Given the description of an element on the screen output the (x, y) to click on. 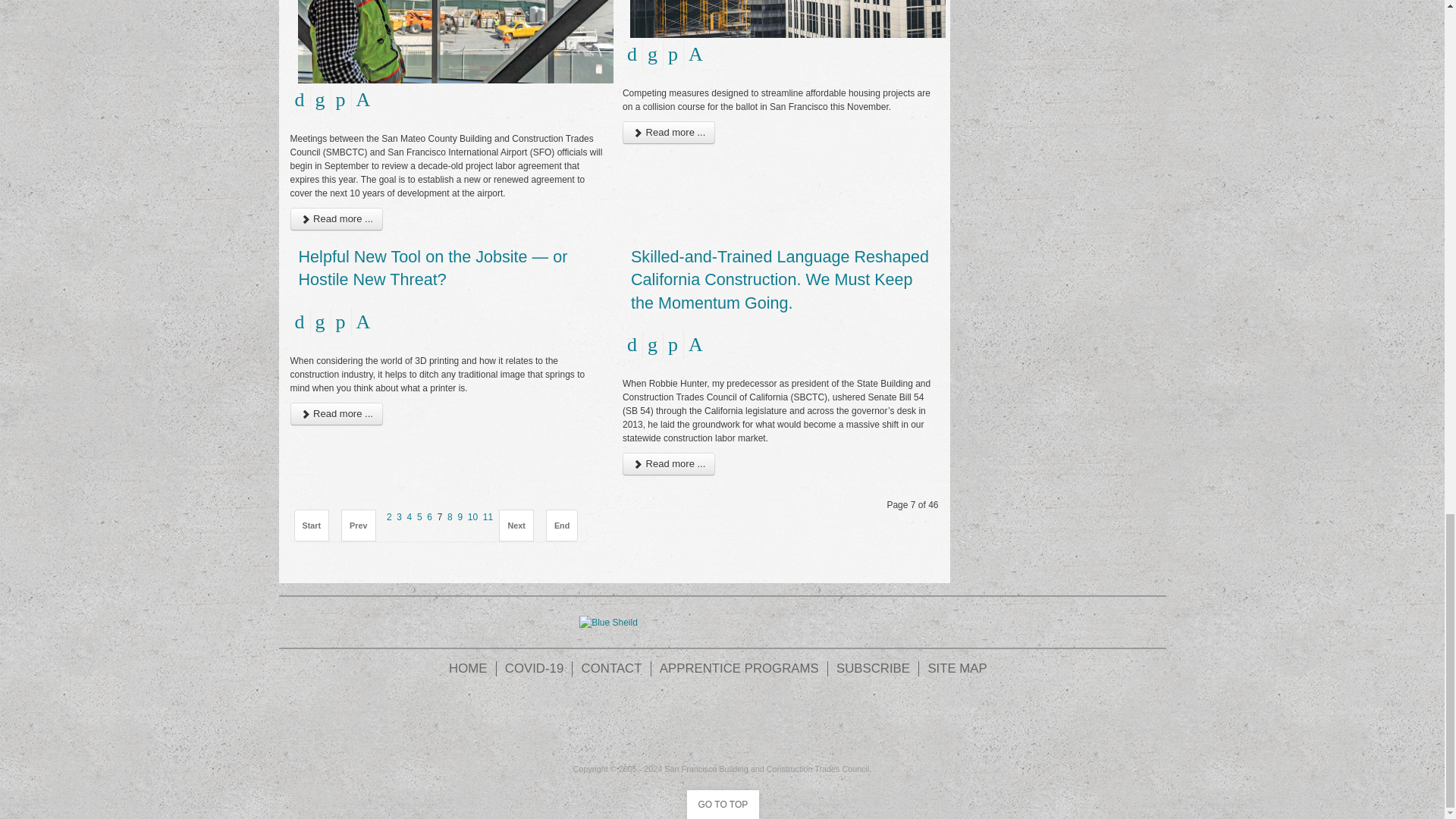
10 (472, 516)
Next (515, 525)
11 (488, 516)
Prev (357, 525)
End (562, 525)
Facebook (638, 721)
Start (312, 525)
BLUE SHEILD FOOTER BANNER 3 (608, 621)
